Given the description of an element on the screen output the (x, y) to click on. 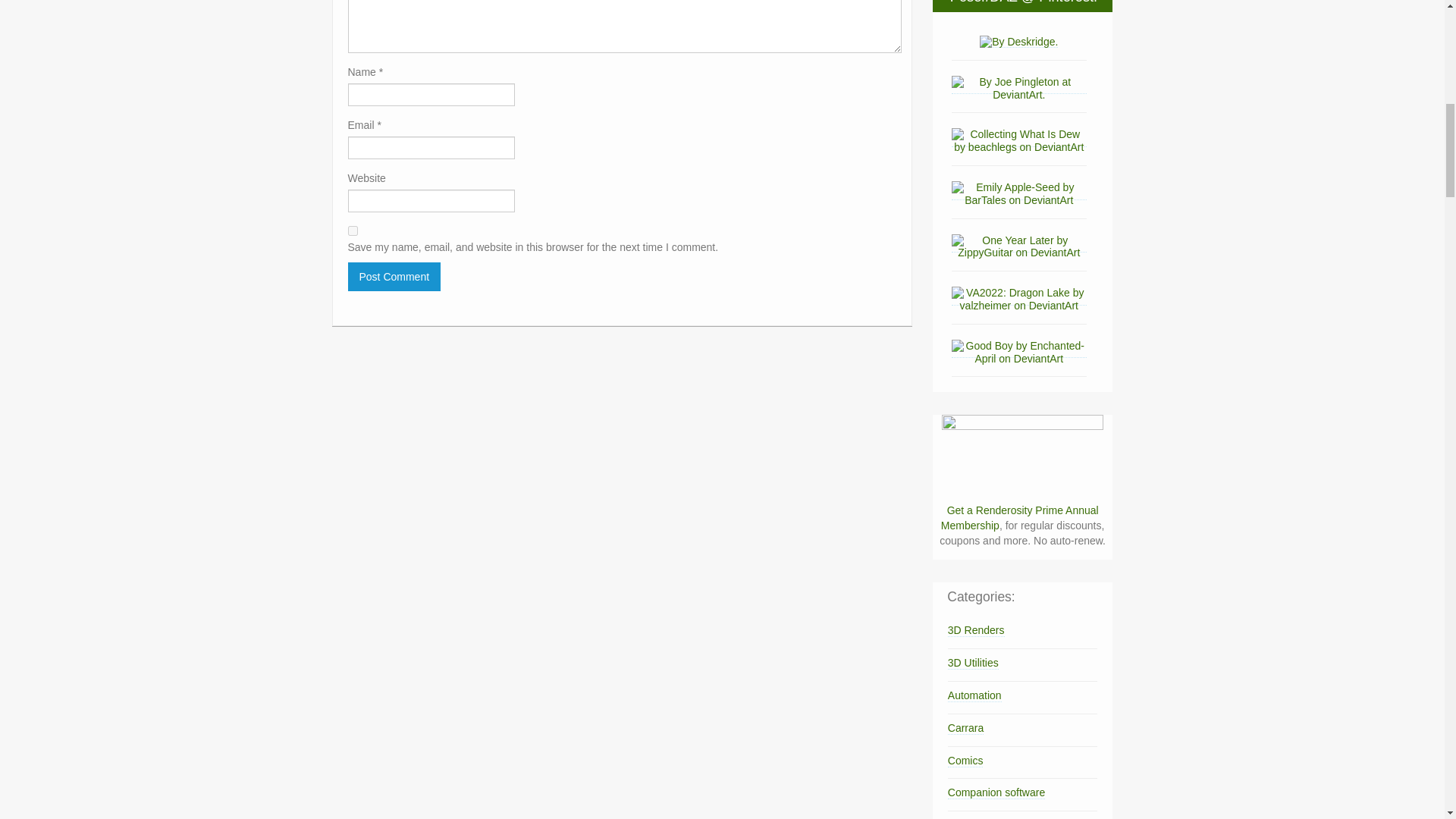
yes (351, 230)
By Deskridge. - Pinned on Nov 04, 2023 (1018, 41)
By Joe Pingleton at DeviantArt. - Pinned on Nov 16, 2022 (1019, 87)
Post Comment (394, 276)
Post Comment (394, 276)
